Given the description of an element on the screen output the (x, y) to click on. 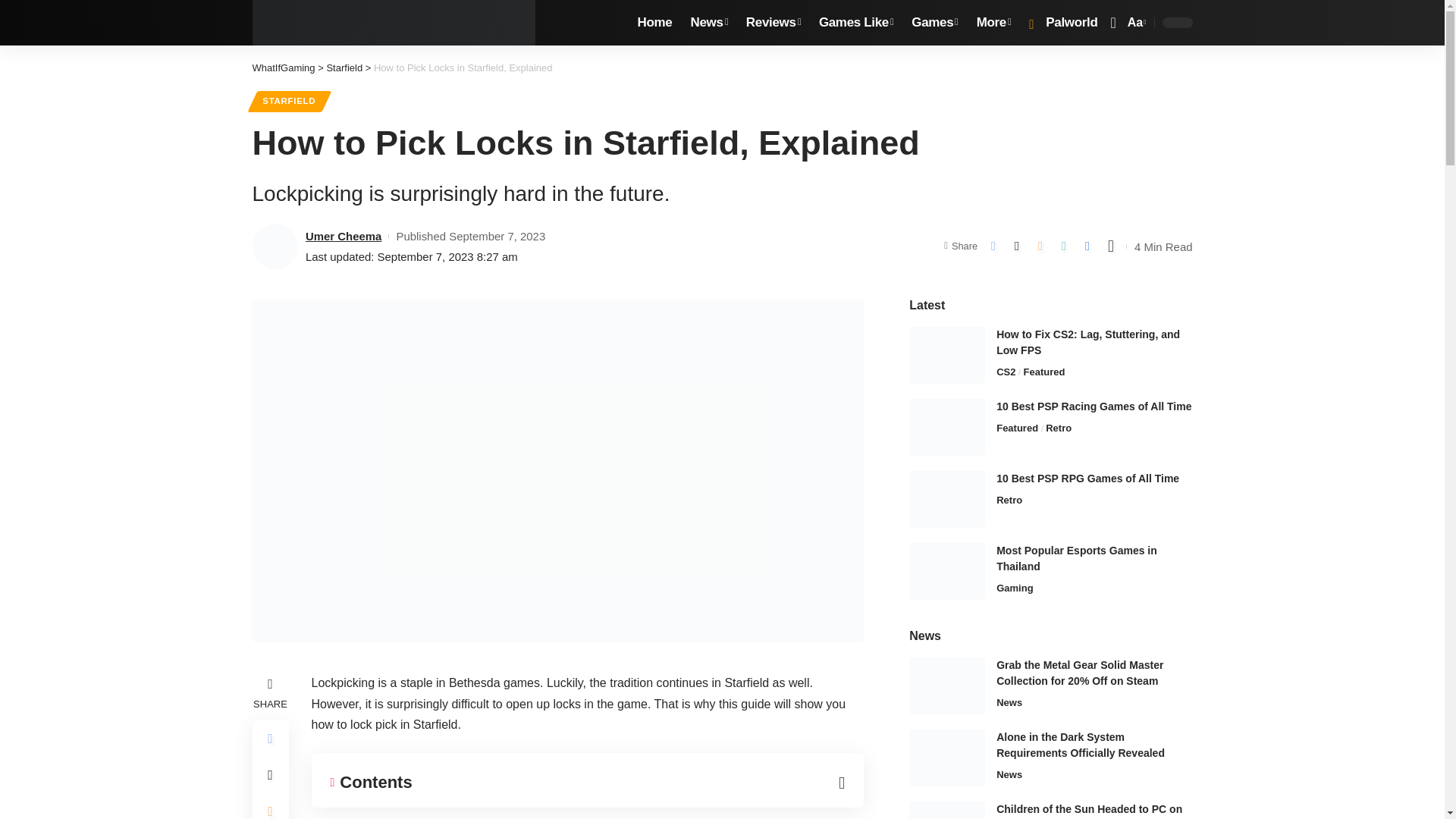
Games Like (855, 22)
How to Fix CS2: Lag, Stuttering, and Low FPS (946, 355)
Reviews (772, 22)
News (708, 22)
10 Best PSP Racing Games of All Time (946, 426)
Go to the Starfield Category archives. (344, 67)
Home (654, 22)
WhatIfGaming (393, 22)
Go to WhatIfGaming. (282, 67)
Games (934, 22)
